Given the description of an element on the screen output the (x, y) to click on. 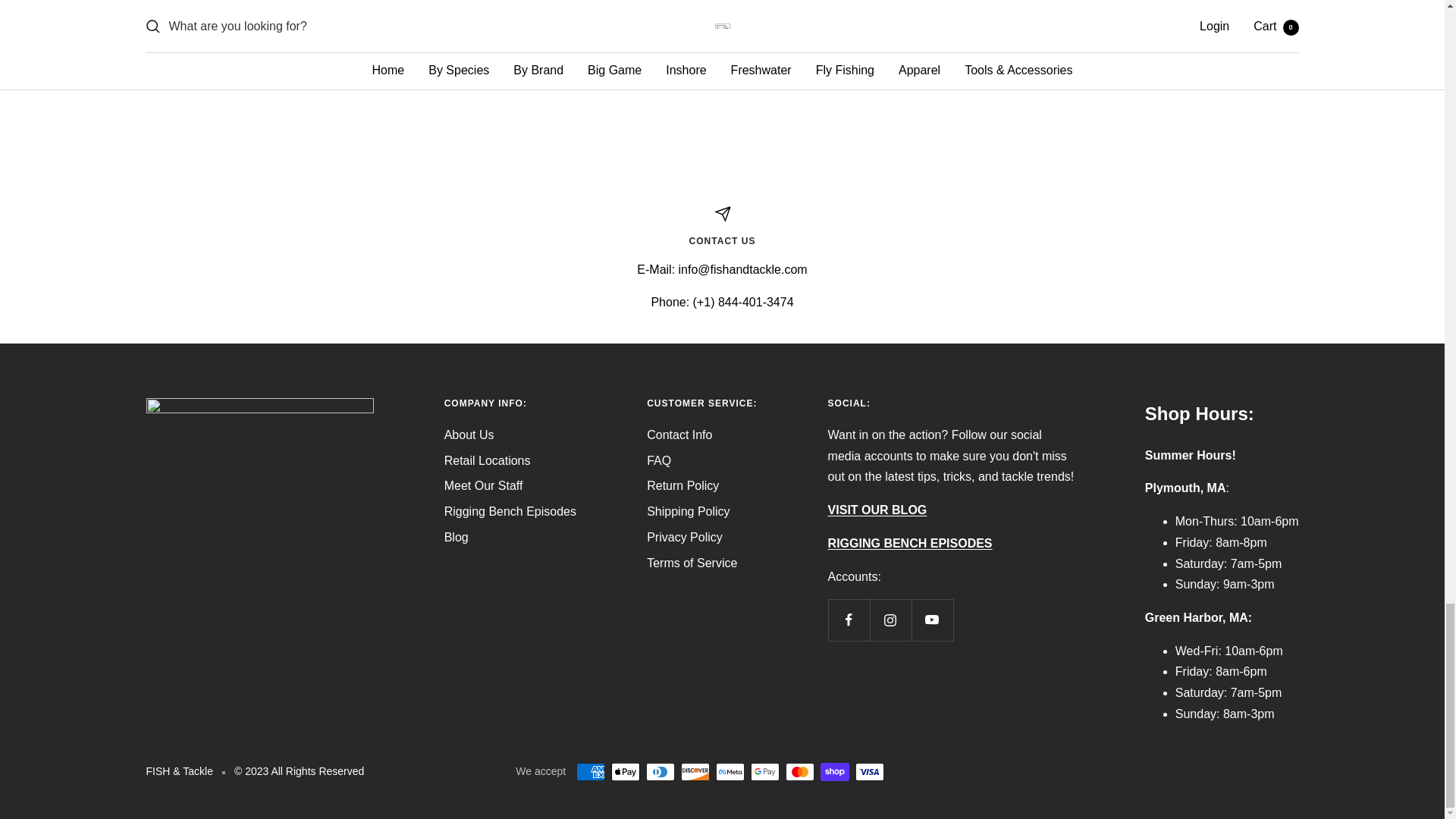
Blog (877, 509)
FISH - Rigging Bench Episodes (910, 543)
